Given the description of an element on the screen output the (x, y) to click on. 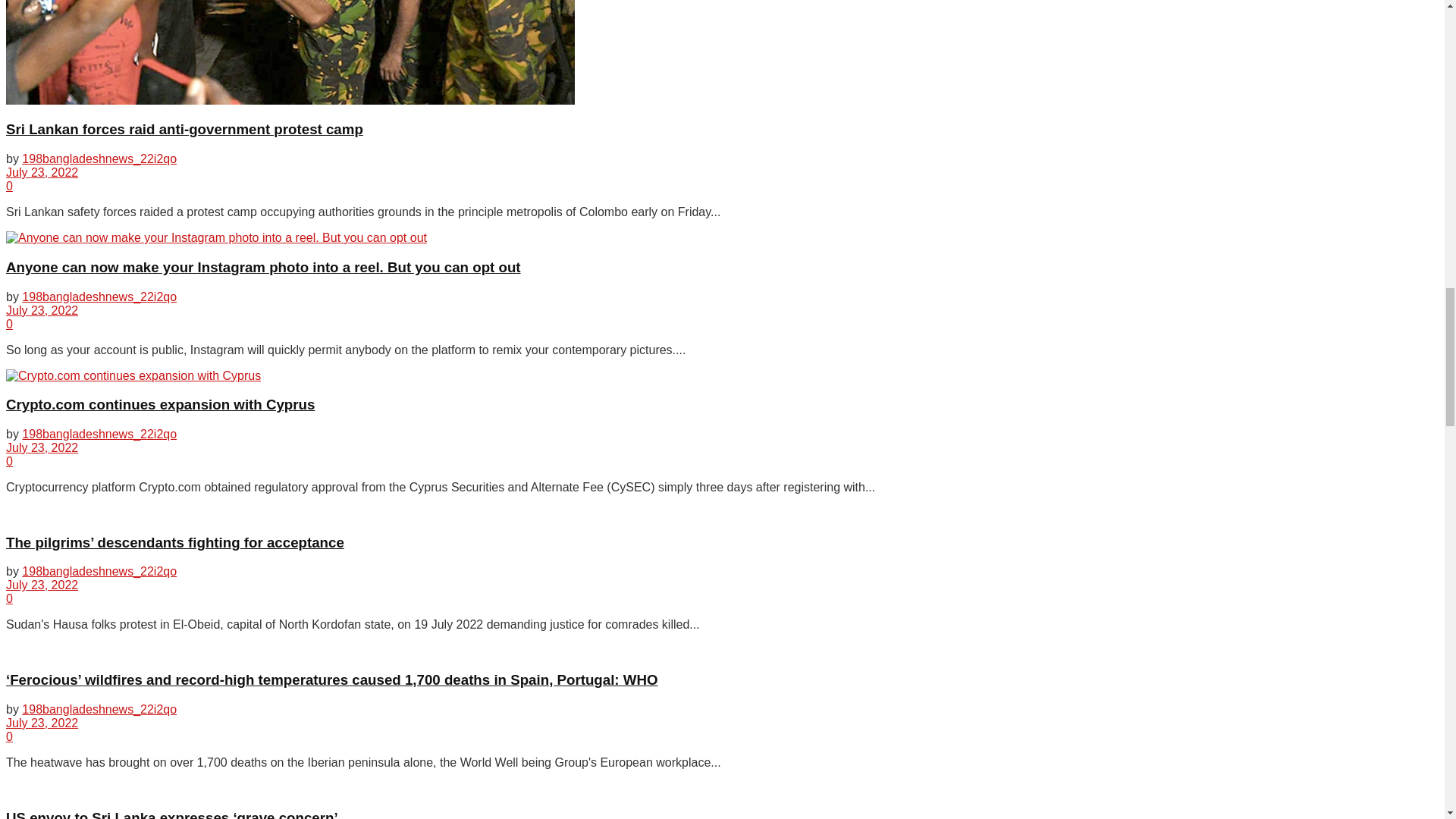
Sri Lankan forces raid anti-government protest camp (290, 52)
Crypto.com continues expansion with Cyprus (132, 375)
